Given the description of an element on the screen output the (x, y) to click on. 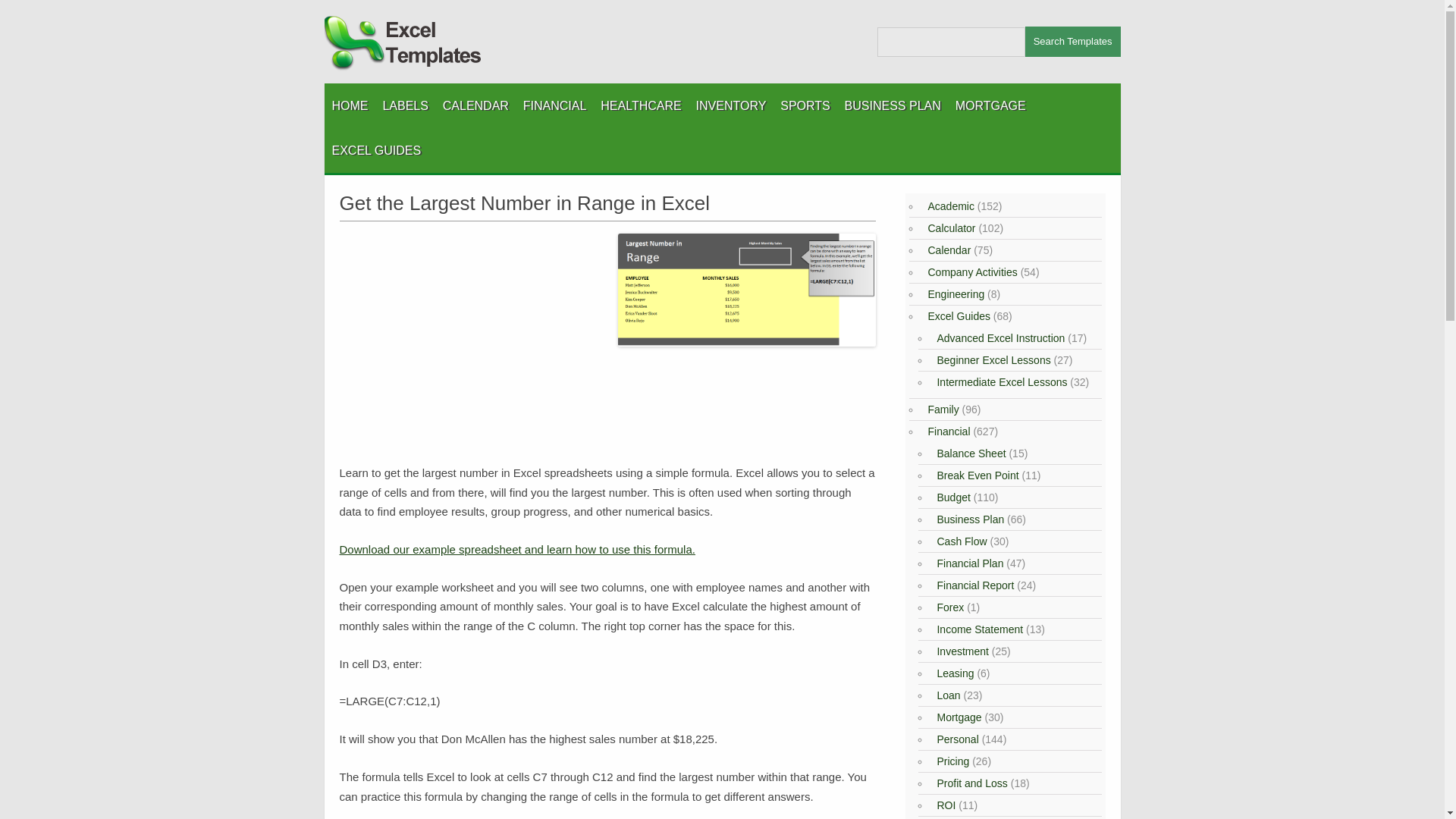
BEGINNER EXCEL LESSONS (407, 187)
Search Templates (1073, 41)
HOME (349, 105)
Intermediate Excel Lessons (1000, 381)
Break Even Point (975, 475)
FINANCIAL (554, 105)
Family (940, 409)
Search Templates (1073, 41)
INVENTORY (731, 105)
MORTGAGE (990, 105)
Financial (946, 431)
LABELS (404, 105)
Calculator (949, 227)
Balance Sheet (969, 453)
